Given the description of an element on the screen output the (x, y) to click on. 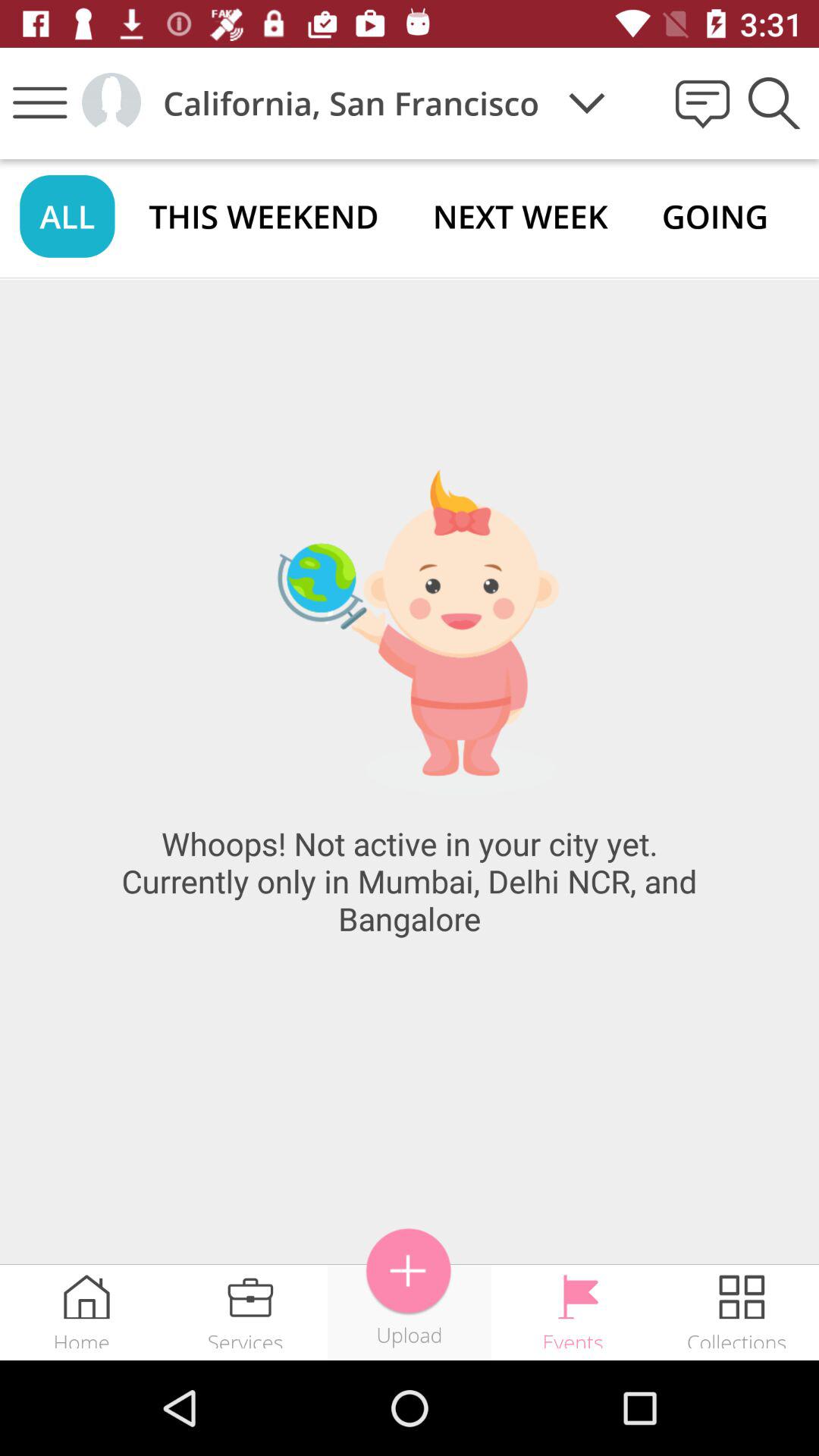
select the icon next to the this weekend (66, 216)
